Given the description of an element on the screen output the (x, y) to click on. 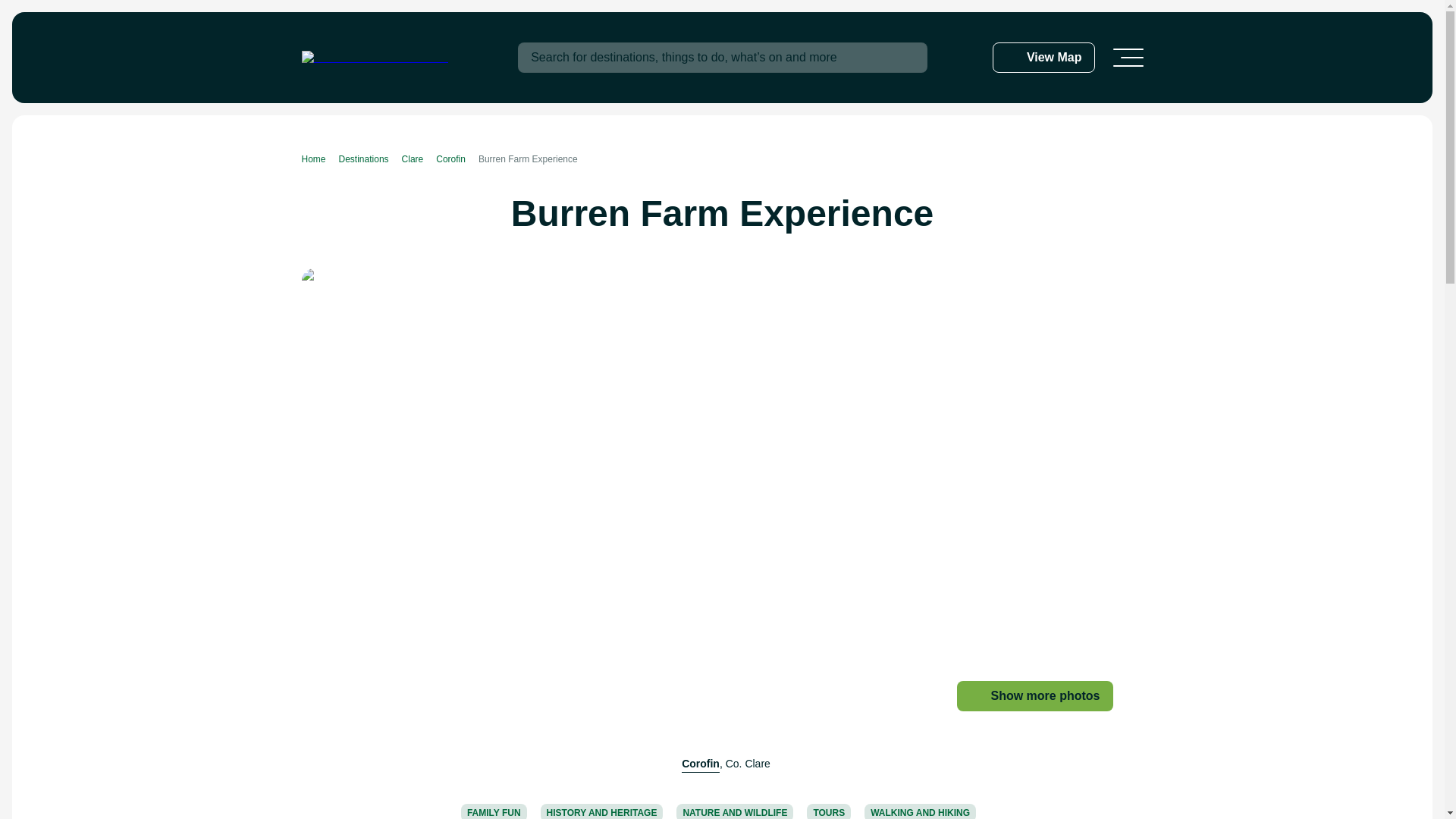
FAMILY FUN (494, 811)
View Map (1043, 57)
Destinations (370, 159)
NATURE AND WILDLIFE (735, 811)
Home (320, 159)
Corofin (700, 763)
HISTORY AND HERITAGE (601, 811)
TOURS (828, 811)
Click to go back to the homepage (374, 57)
Clare (418, 159)
